Given the description of an element on the screen output the (x, y) to click on. 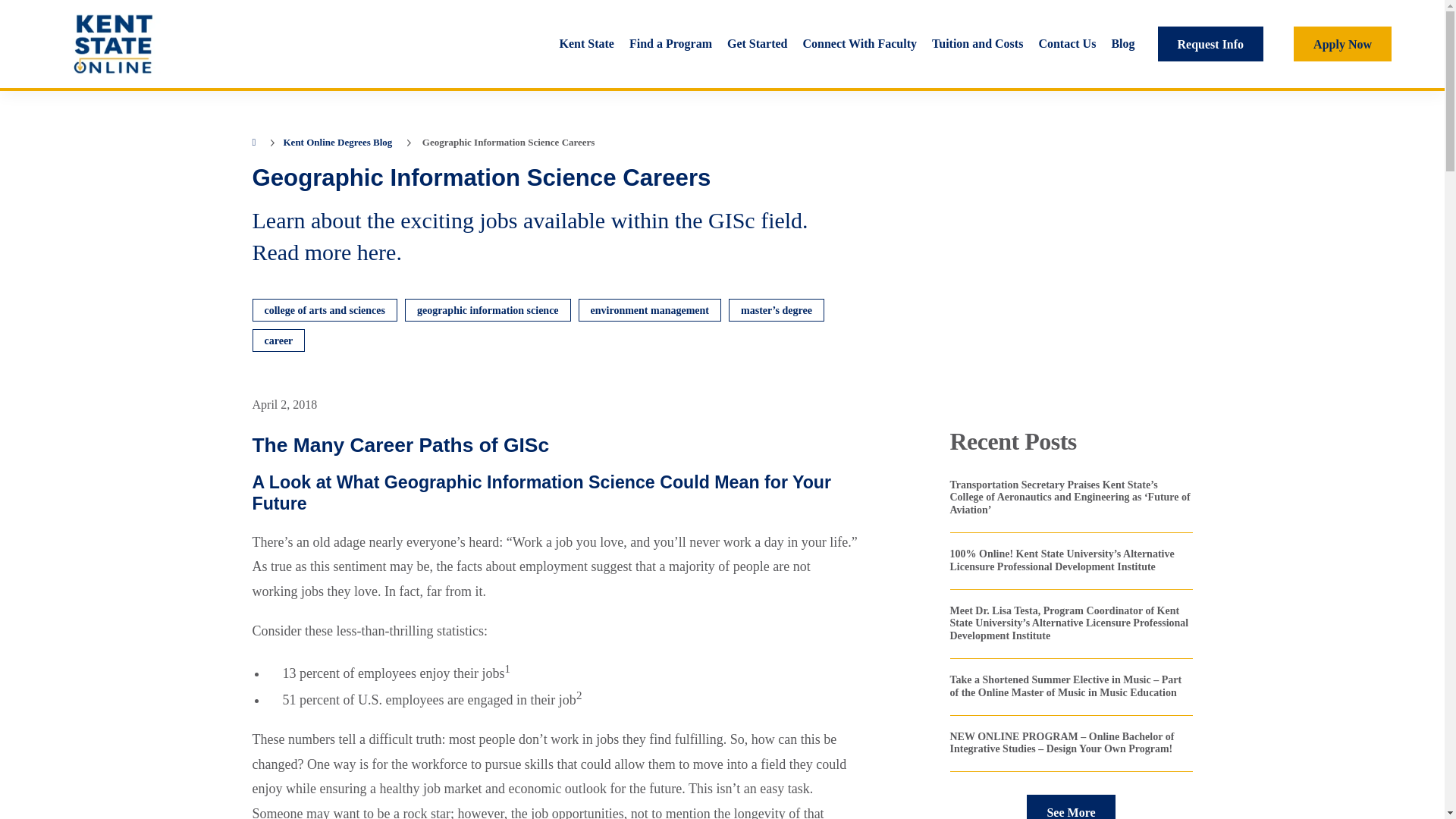
Connect With Faculty (860, 45)
Kent Online Degrees Blog (338, 142)
geographic information science (487, 309)
Request Info (1210, 43)
Contact Us (1067, 45)
environment management (649, 309)
Kent State (586, 45)
Apply Now (1342, 43)
Tuition and Costs (977, 45)
college of arts and sciences (323, 309)
career (277, 340)
Find a Program (669, 45)
Get Started (756, 45)
